Given the description of an element on the screen output the (x, y) to click on. 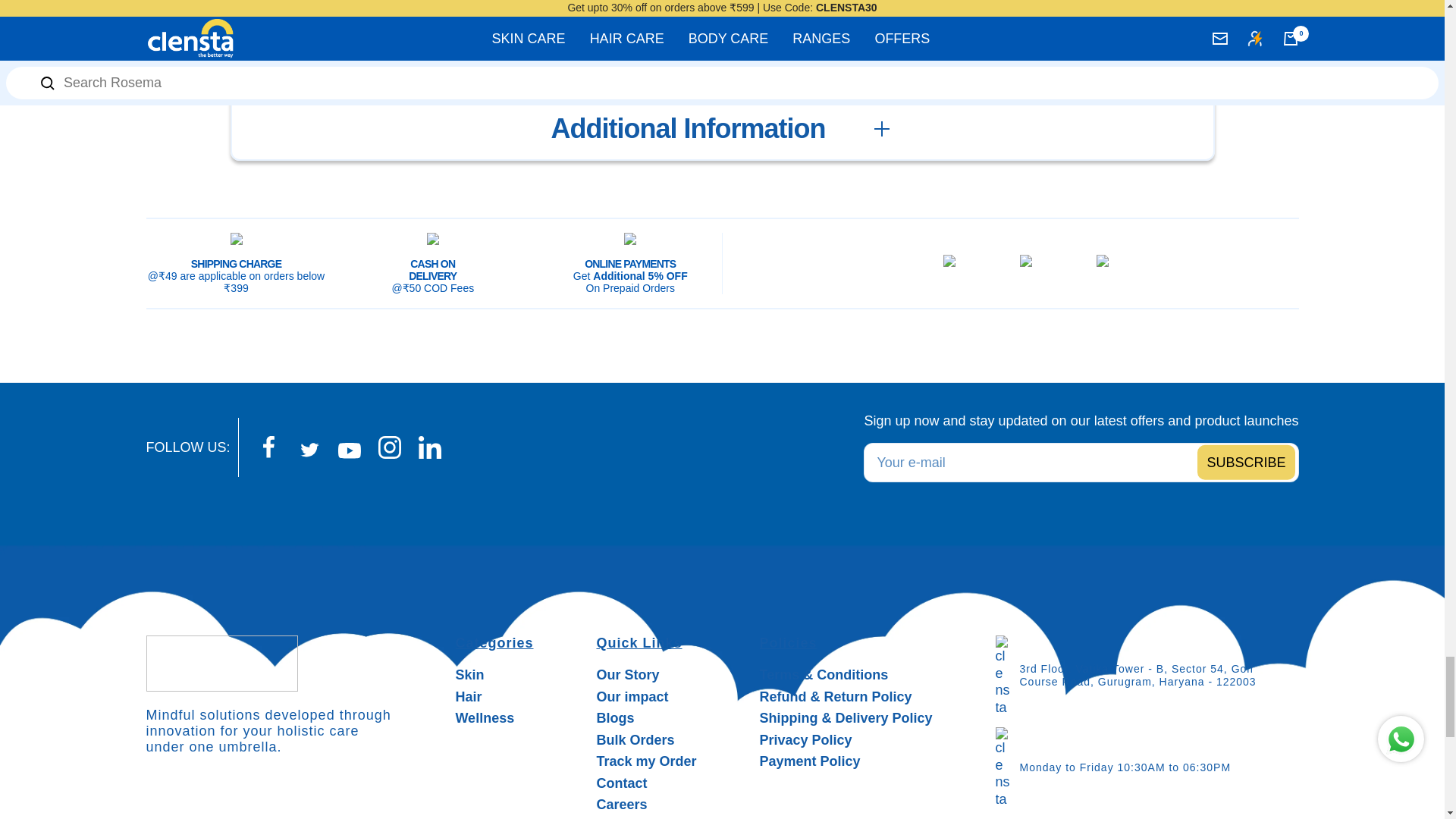
Register (1245, 461)
